Given the description of an element on the screen output the (x, y) to click on. 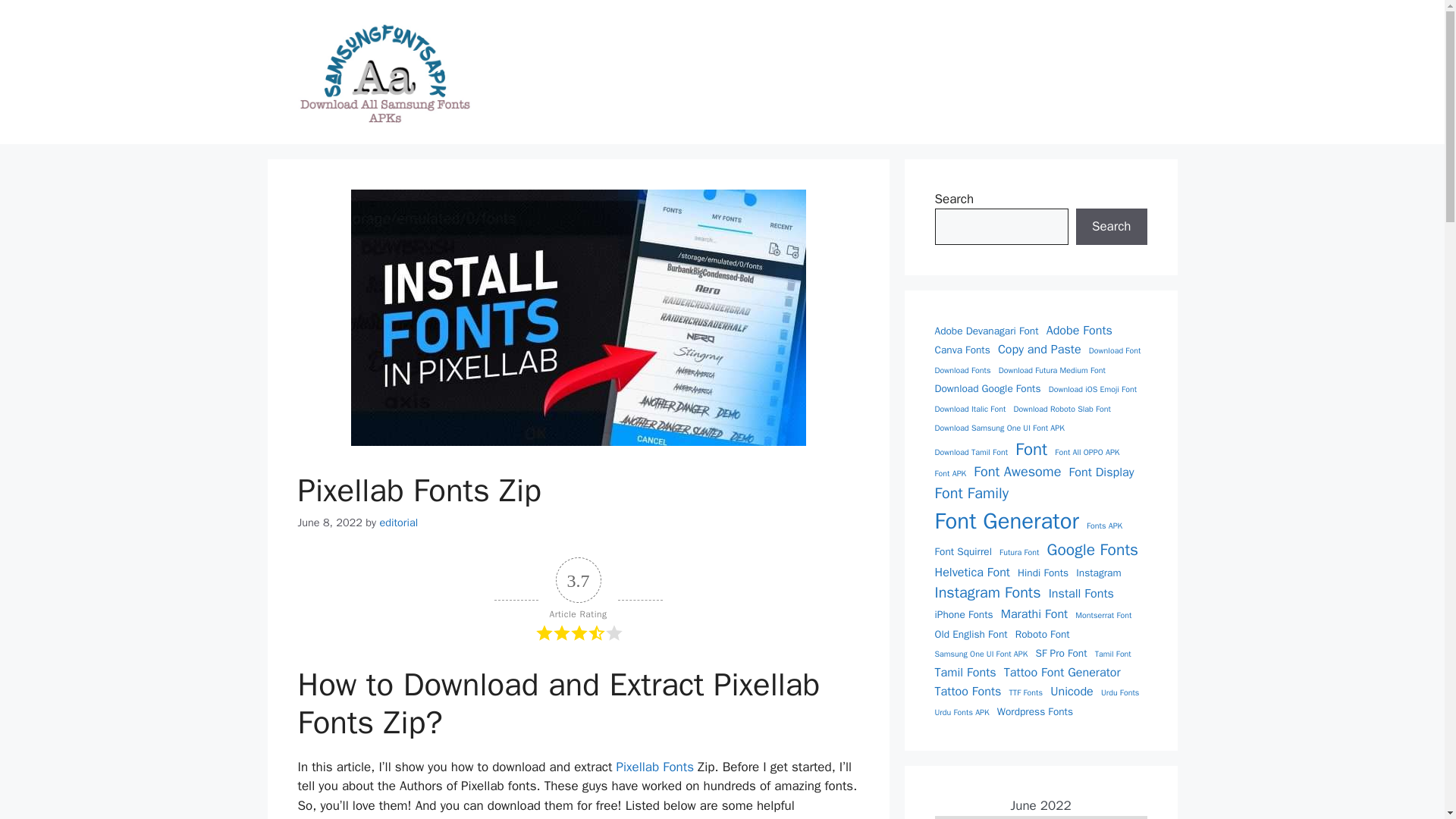
View all posts by editorial (397, 522)
editorial (397, 522)
Pixellab Fonts (654, 766)
